Given the description of an element on the screen output the (x, y) to click on. 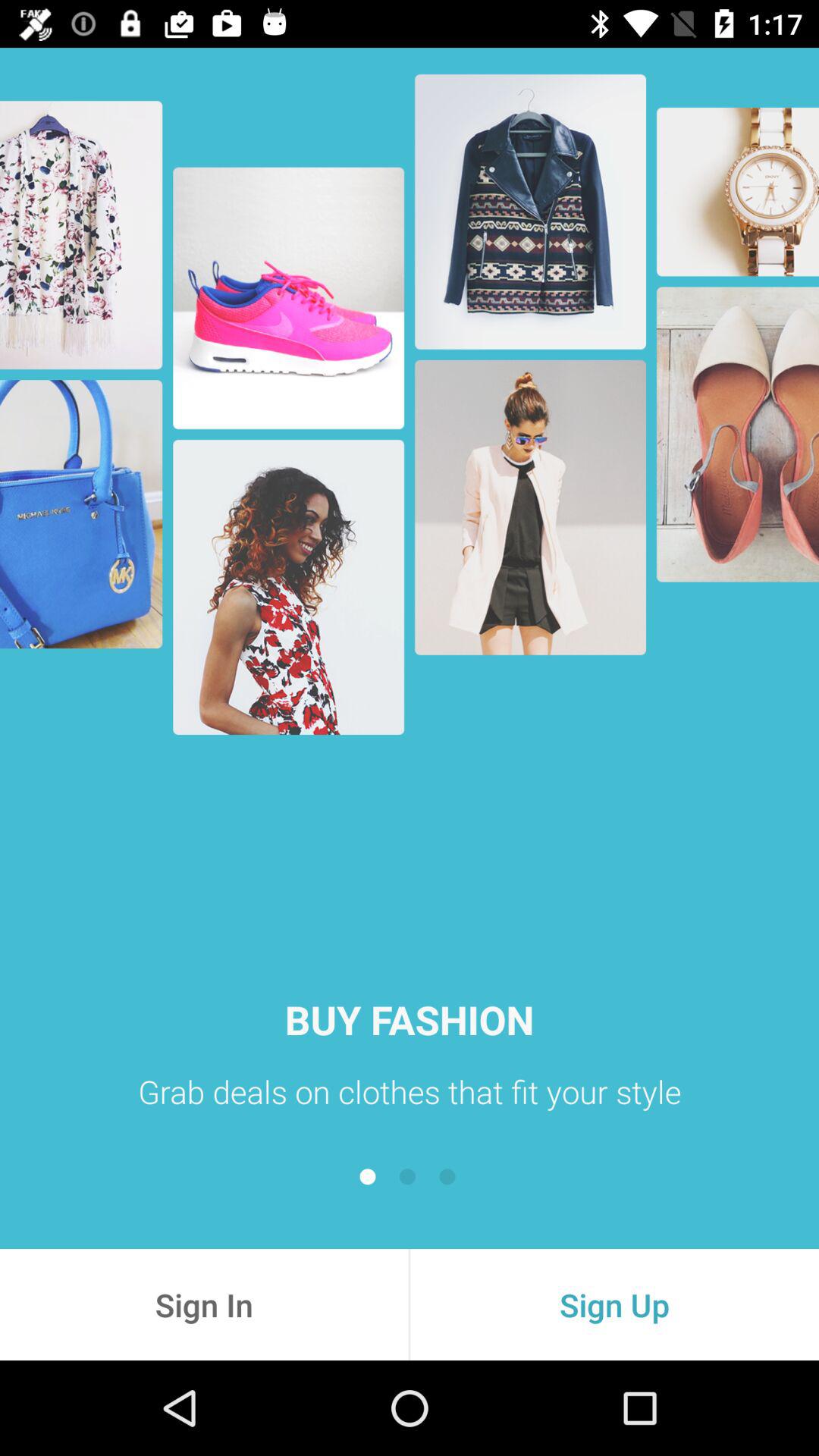
jump until sign up item (614, 1304)
